Given the description of an element on the screen output the (x, y) to click on. 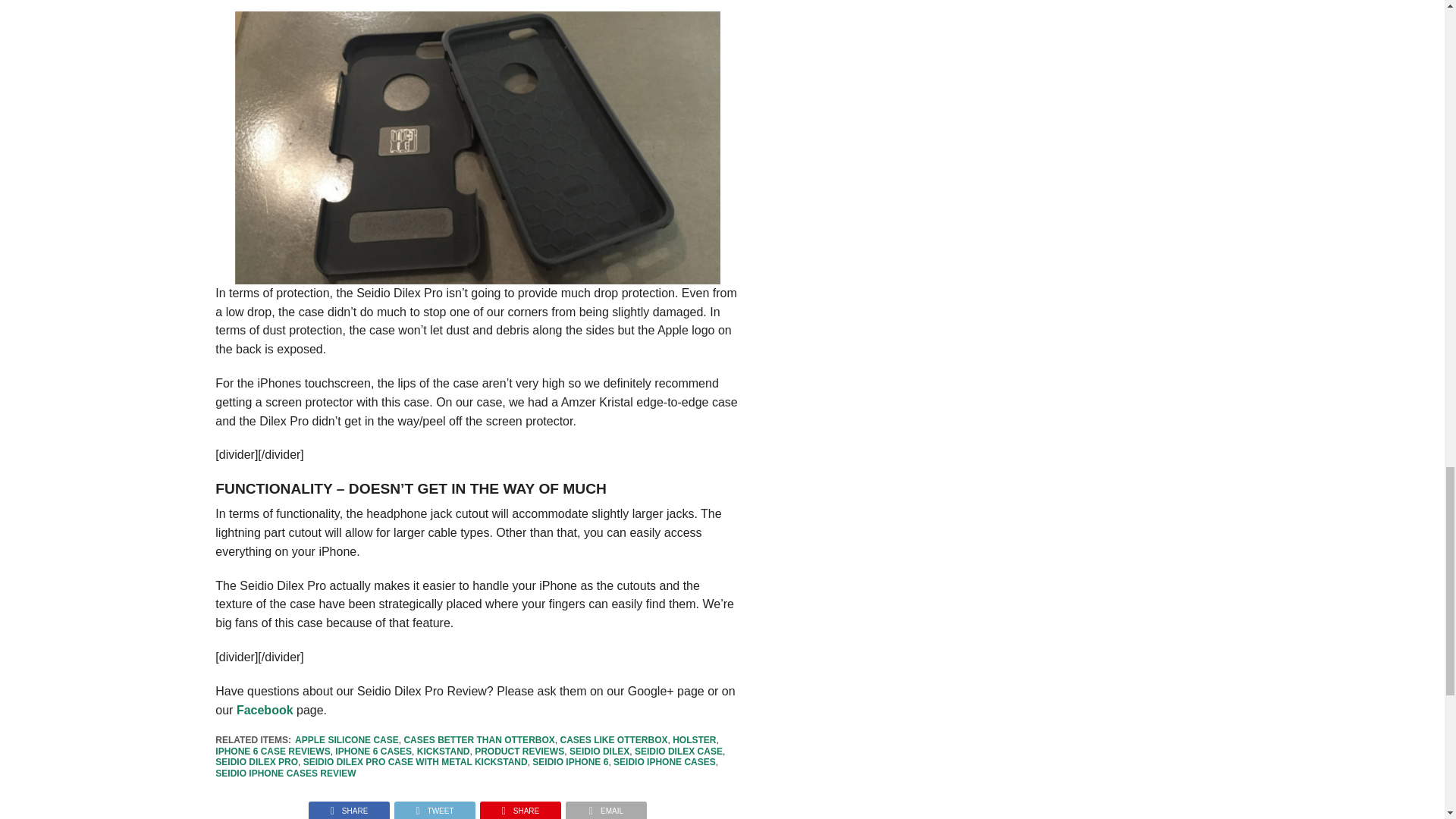
Tweet This Post (434, 807)
Pin This Post (520, 807)
Share on Facebook (349, 807)
